Given the description of an element on the screen output the (x, y) to click on. 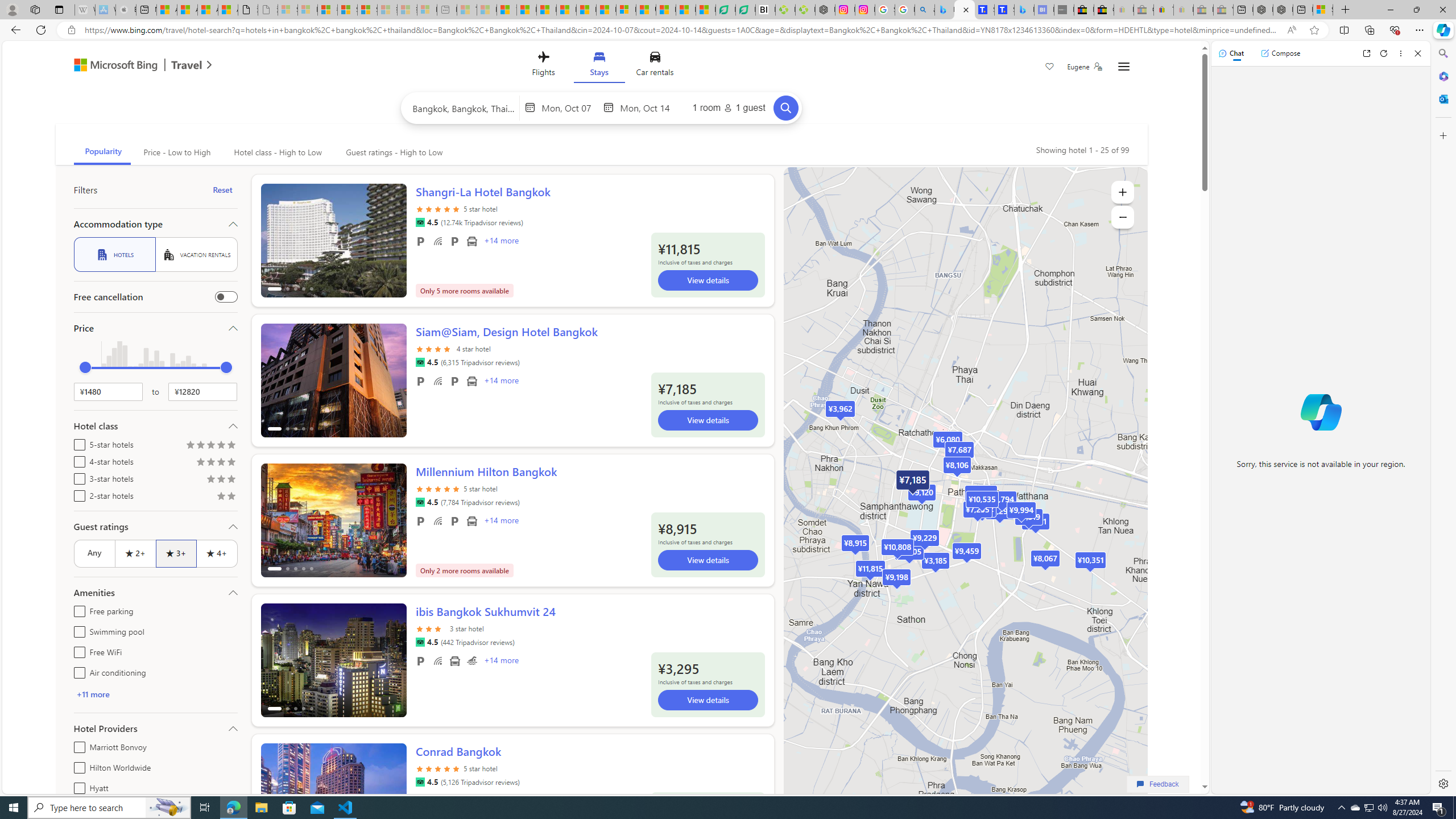
Nordace - Summer Adventures 2024 (1282, 9)
Food and Drink - MSN (526, 9)
Search hotels or place (463, 107)
Free parking (420, 660)
1 room1 guest (728, 107)
Threats and offensive language policy | eBay (1162, 9)
Top Stories - MSN - Sleeping (466, 9)
Press Room - eBay Inc. - Sleeping (1203, 9)
3+ (175, 553)
min  (84, 367)
US Heat Deaths Soared To Record High Last Year (646, 9)
